Given the description of an element on the screen output the (x, y) to click on. 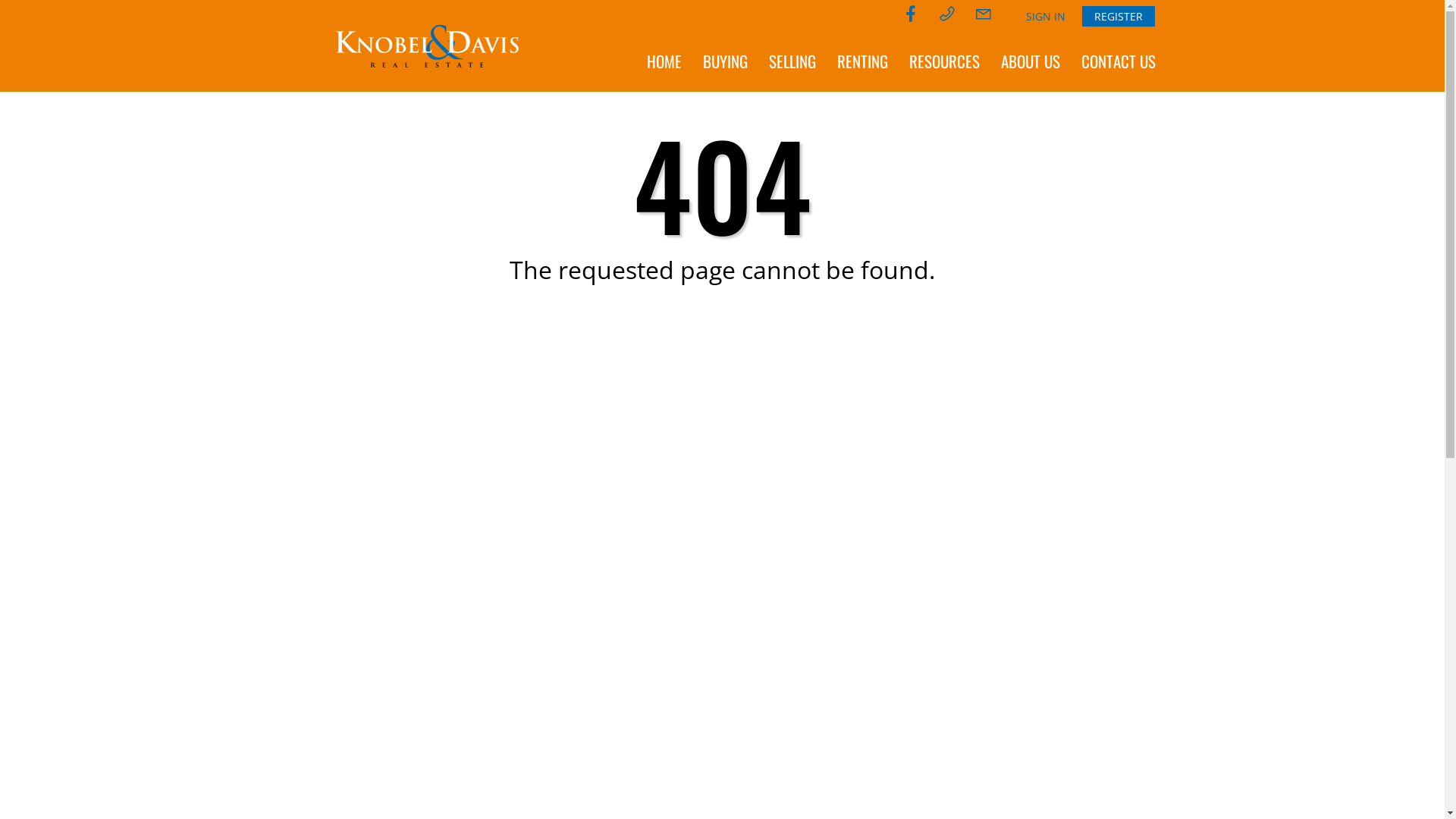
CONTACT US Element type: text (1118, 61)
RESOURCES Element type: text (943, 61)
ABOUT US Element type: text (1030, 61)
SIGN IN Element type: text (1044, 16)
BUYING Element type: text (724, 61)
RENTING Element type: text (862, 61)
HOME Element type: text (663, 61)
SELLING Element type: text (792, 61)
REGISTER Element type: text (1117, 16)
